Given the description of an element on the screen output the (x, y) to click on. 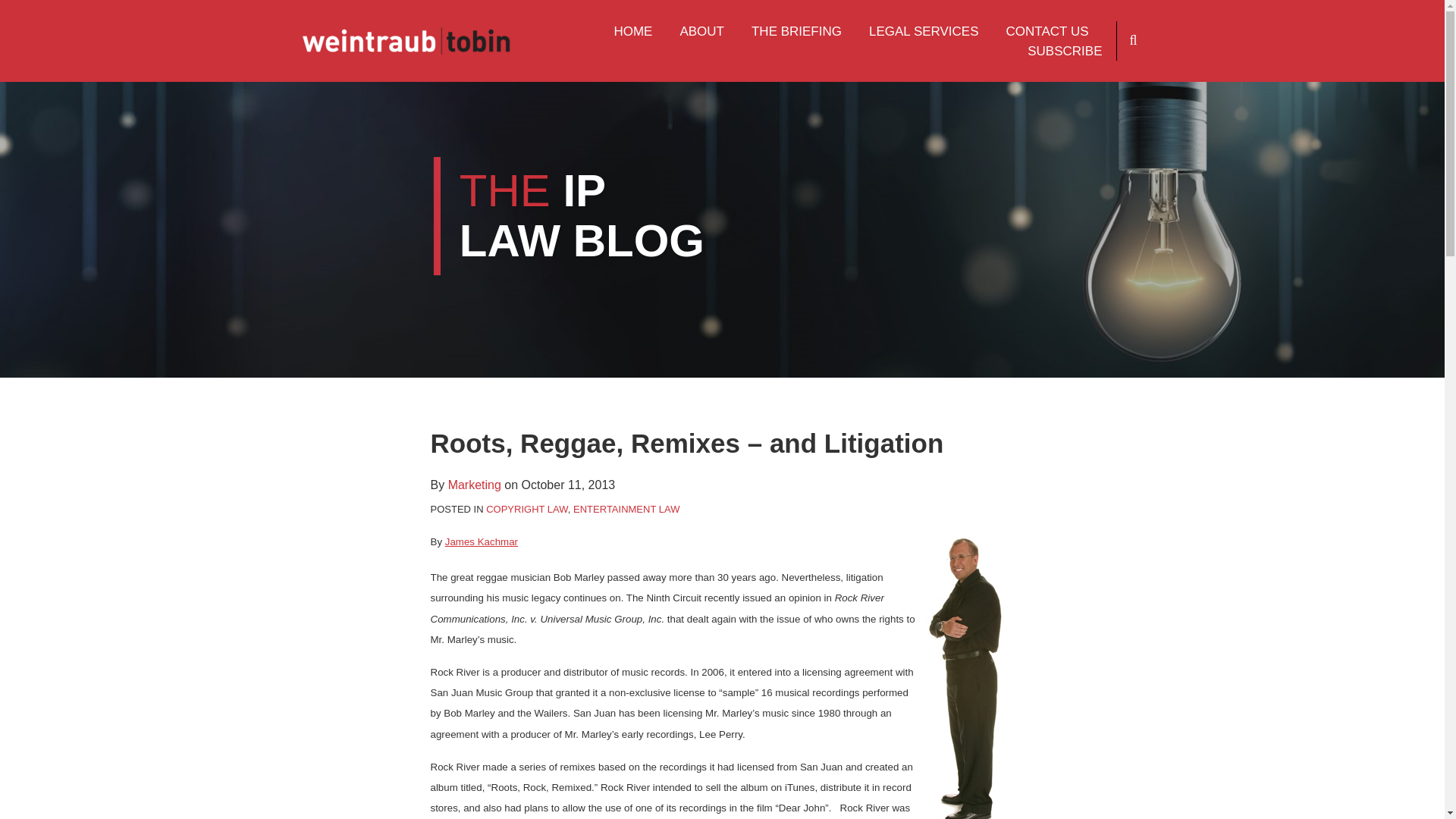
COPYRIGHT LAW (526, 509)
THE BRIEFING (796, 31)
THE IP LAW BLOG (582, 215)
ENTERTAINMENT LAW (626, 509)
Marketing (474, 484)
ABOUT (701, 31)
CONTACT US (1047, 31)
LEGAL SERVICES (923, 31)
SUBSCRIBE (1064, 51)
HOME (632, 31)
James Kachmar (481, 541)
